Given the description of an element on the screen output the (x, y) to click on. 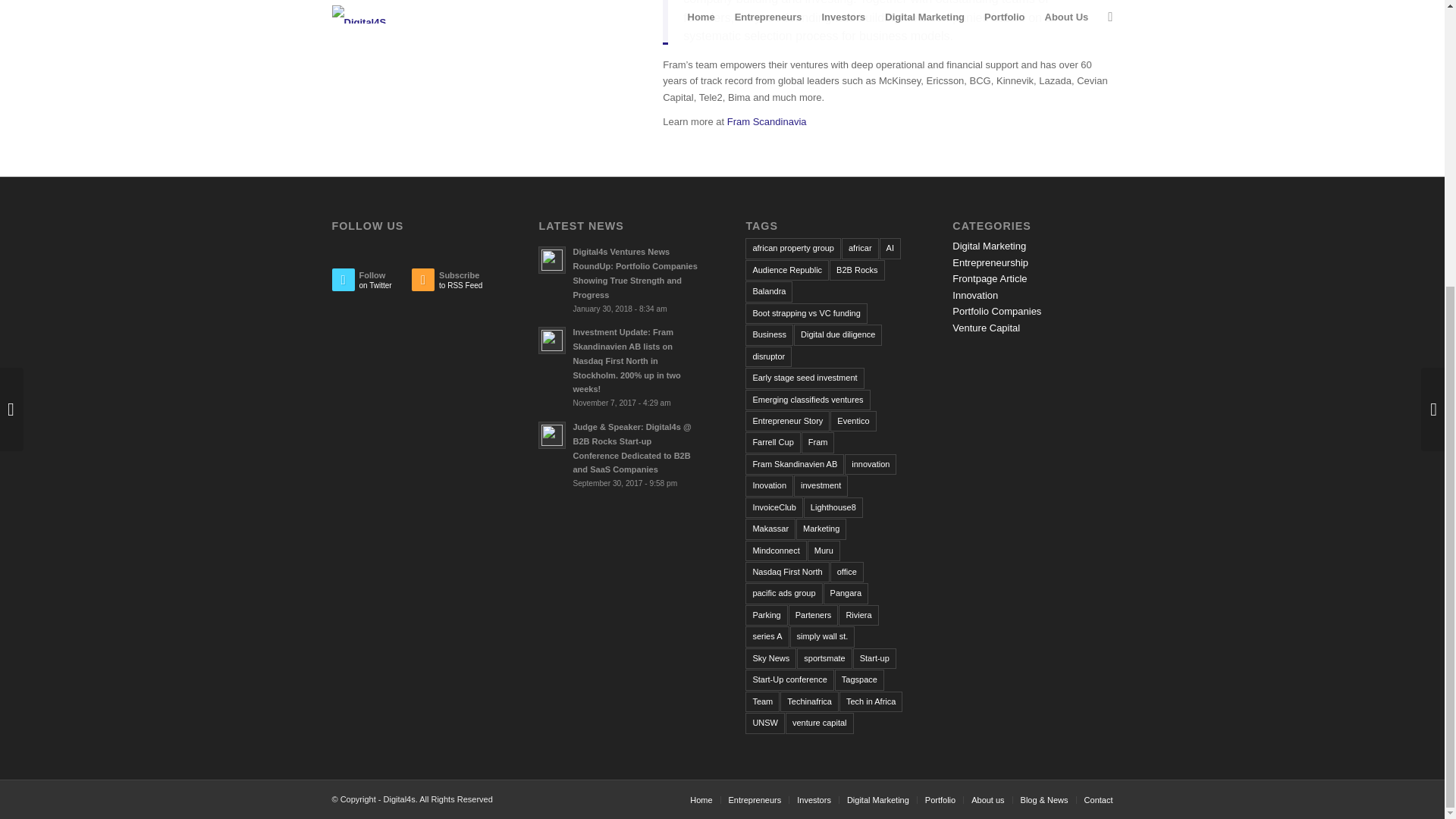
Early stage seed investment (804, 377)
Business (769, 334)
B2B Rocks (856, 270)
african property group (793, 248)
africar (860, 248)
Fram Scandinavia (452, 283)
Audience Republic (766, 121)
Boot strapping vs VC funding (786, 270)
AI (805, 313)
disruptor (890, 248)
Emerging classifieds ventures (371, 283)
Balandra (768, 356)
